Given the description of an element on the screen output the (x, y) to click on. 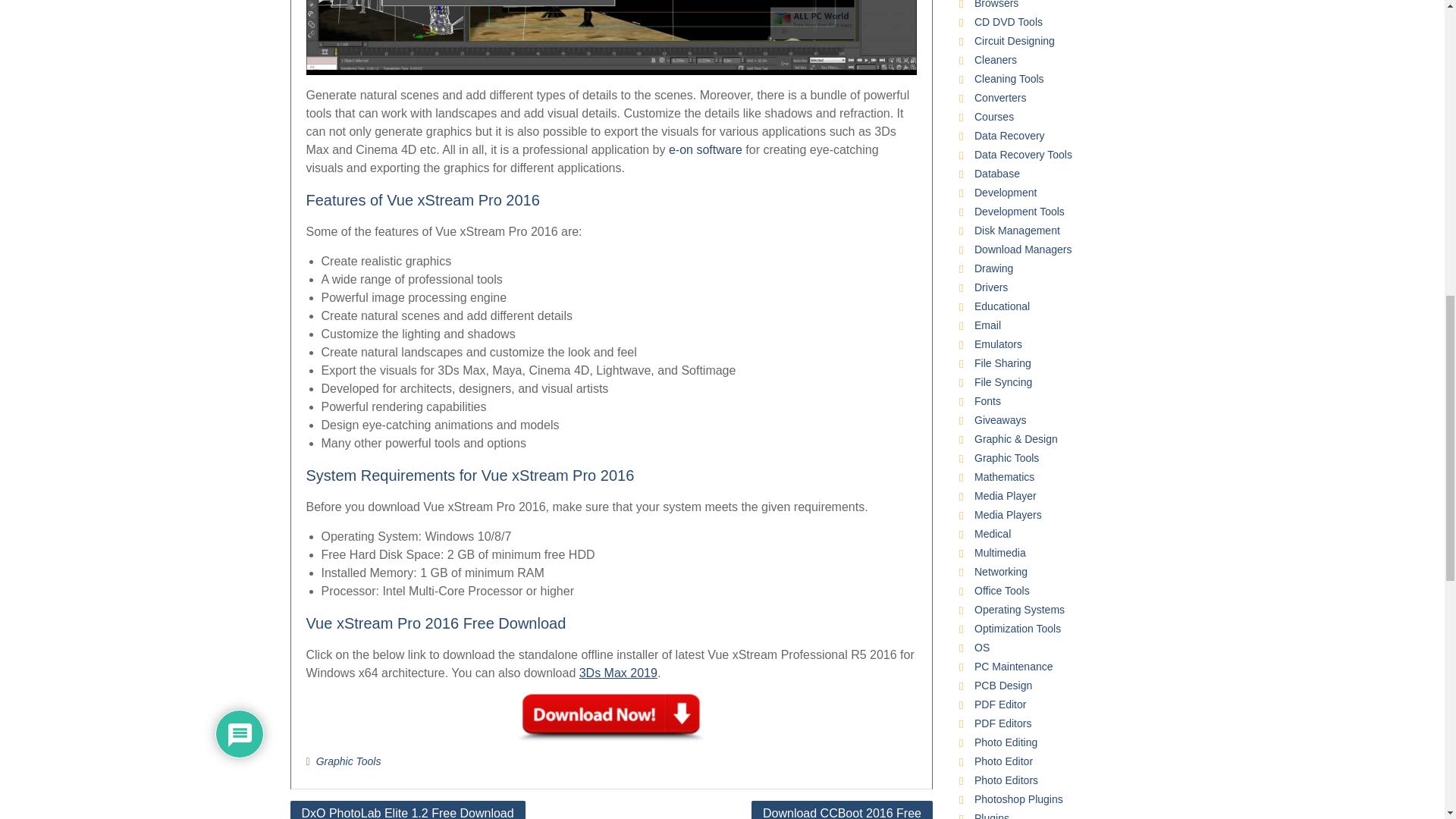
e-on software (705, 149)
DxO PhotoLab Elite 1.2 Free Download (406, 809)
3Ds Max 2019 (618, 672)
Download CCBoot 2016 Free (842, 809)
Graphic Tools (348, 761)
